Given the description of an element on the screen output the (x, y) to click on. 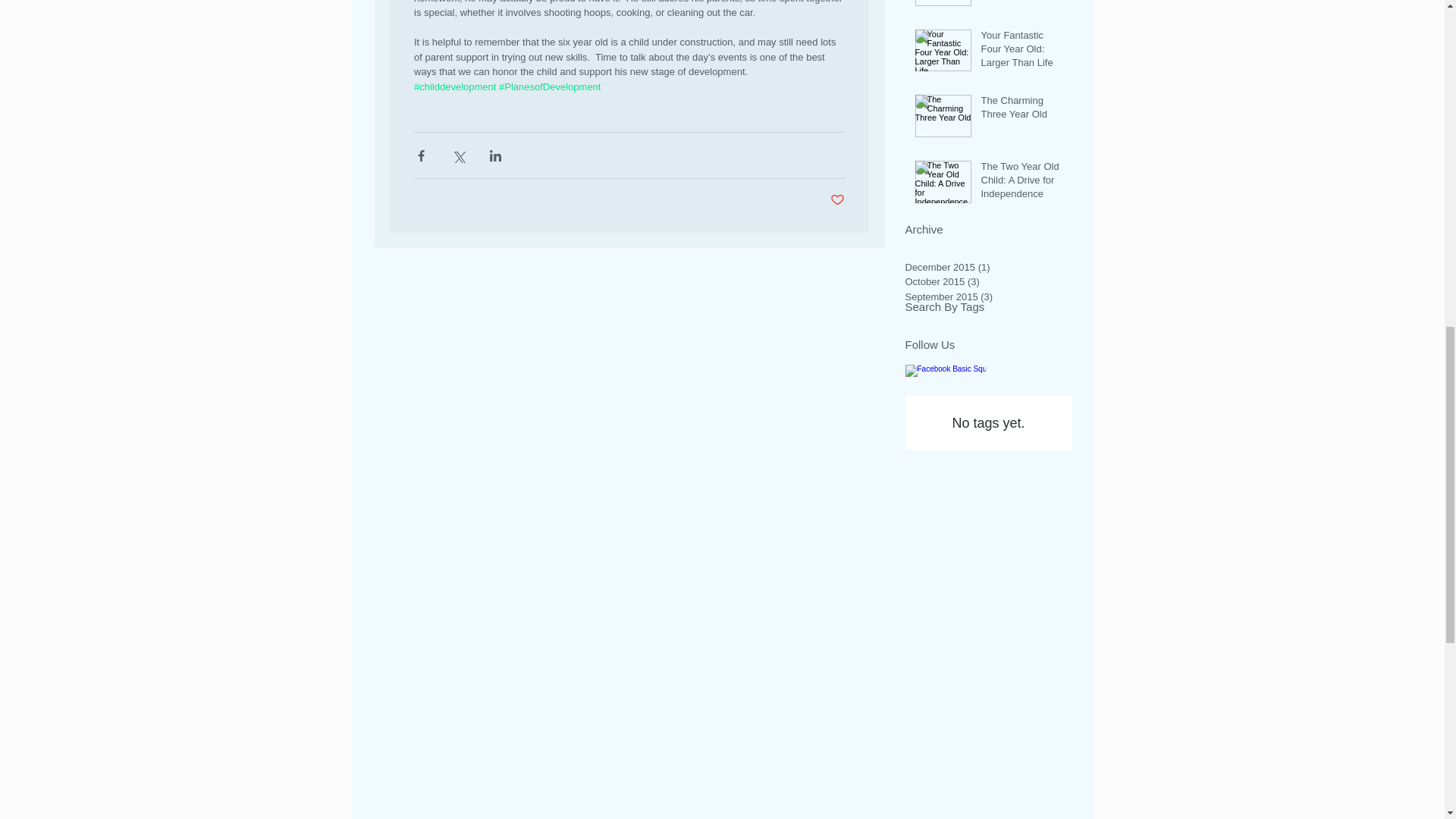
The Charming Three Year Old (1021, 110)
Post not marked as liked (836, 200)
Your Fantastic Four Year Old: Larger Than Life (1021, 52)
The Two Year Old Child: A Drive for Independence (1021, 183)
